Given the description of an element on the screen output the (x, y) to click on. 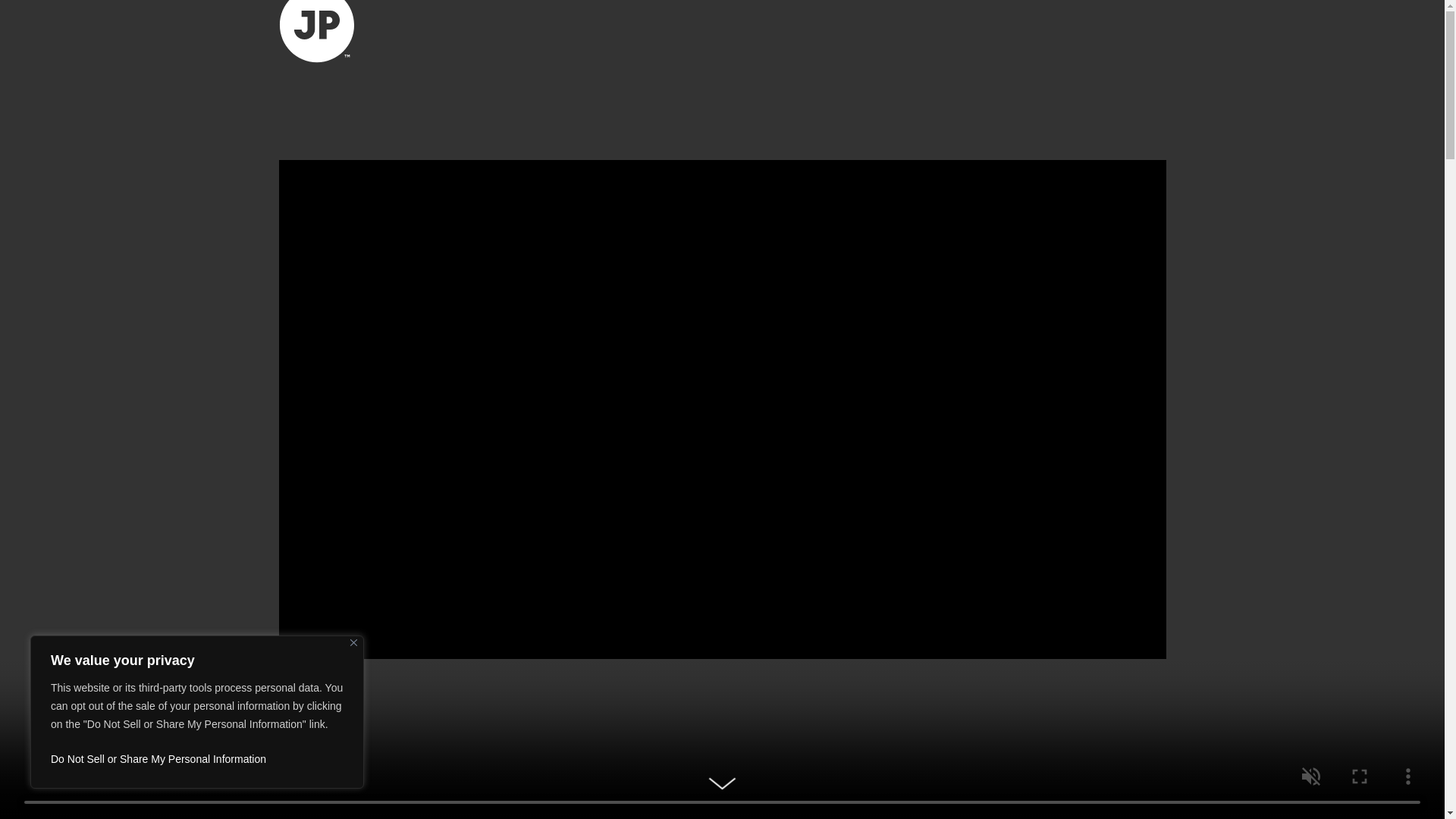
JP Marketing (317, 33)
